Given the description of an element on the screen output the (x, y) to click on. 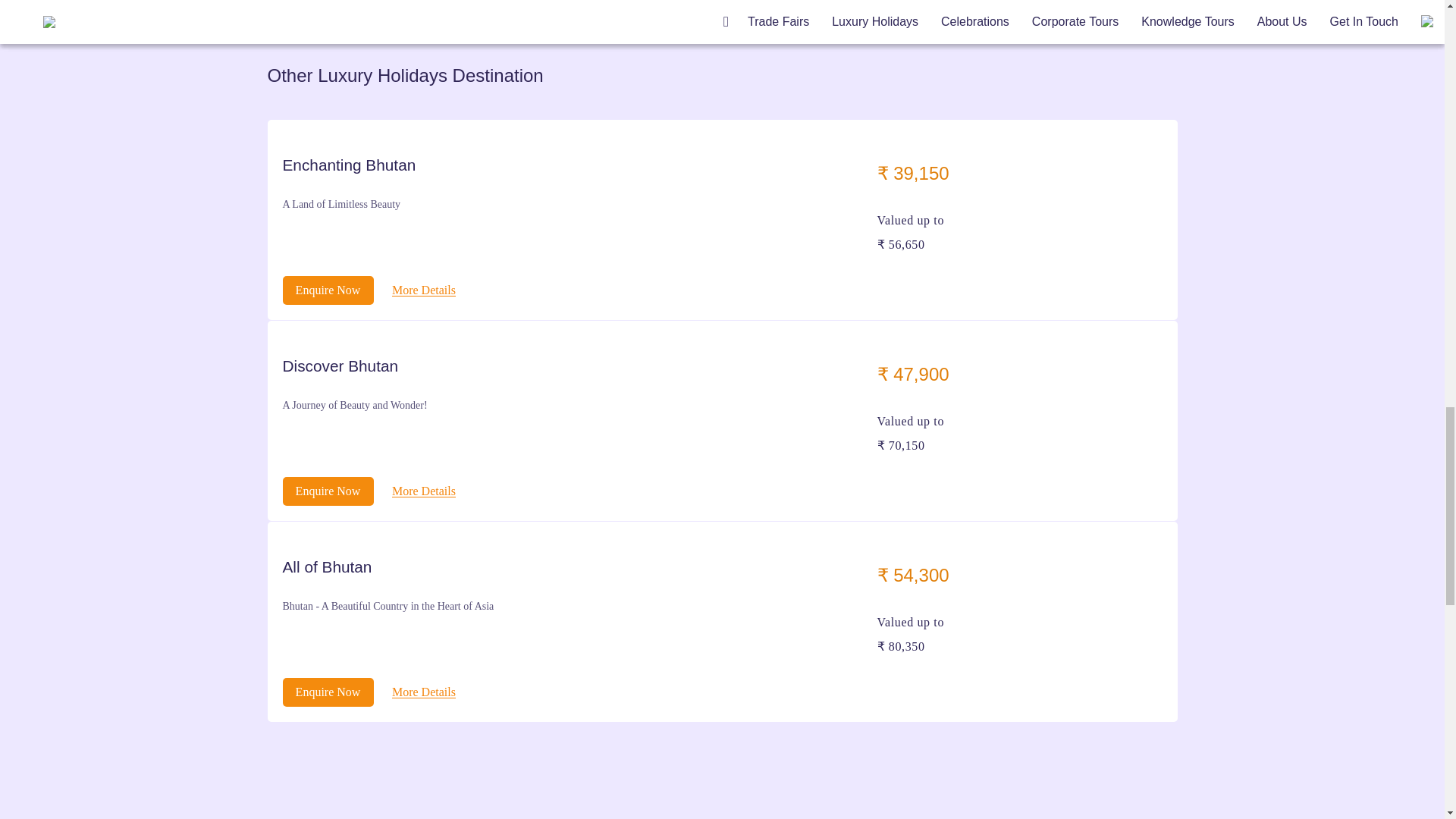
More Details (423, 290)
Enquire Now (327, 290)
More Details (423, 491)
Enquire Now (327, 692)
Enquire Now (327, 491)
More Details (423, 692)
